Given the description of an element on the screen output the (x, y) to click on. 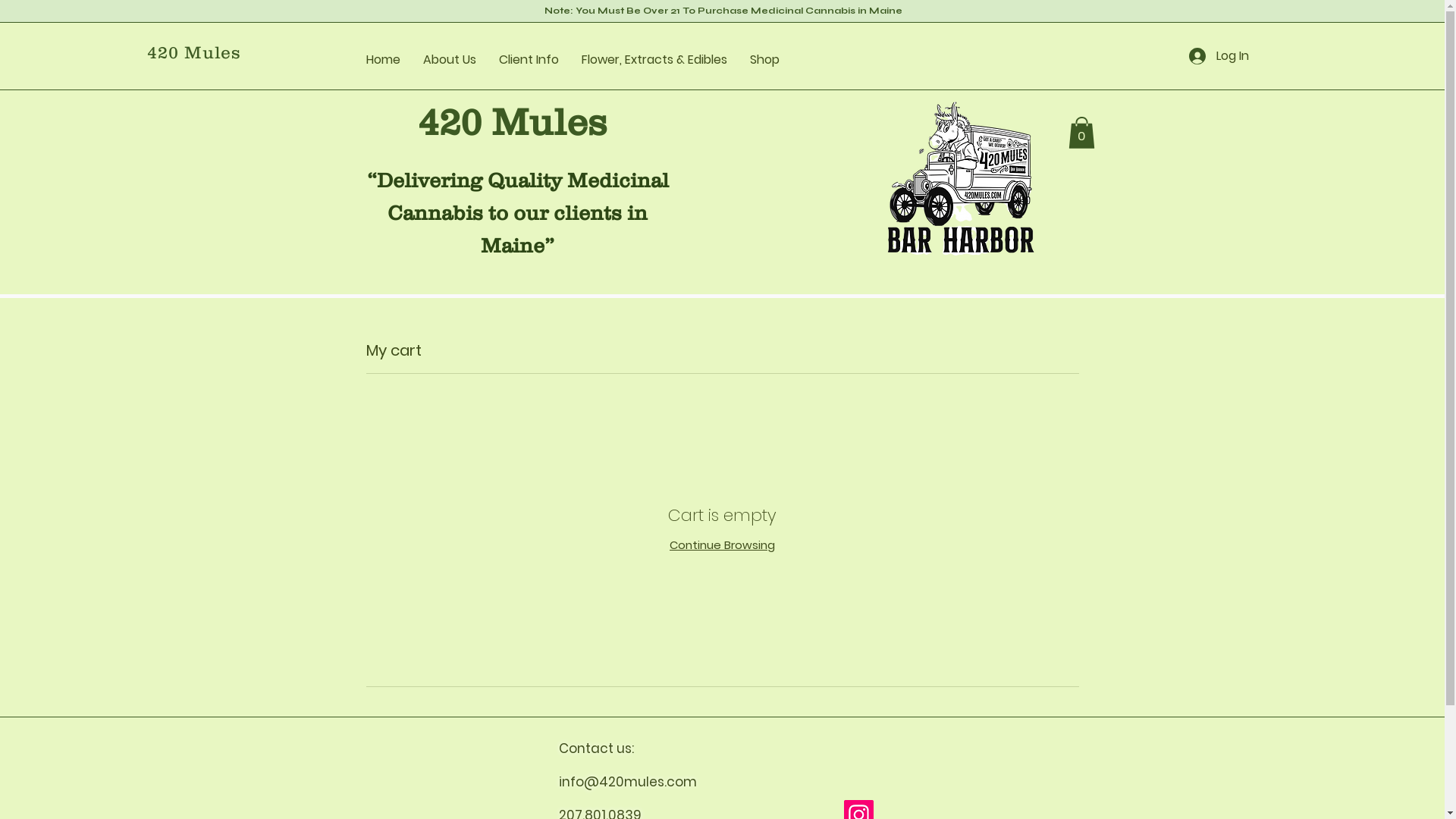
Shop Element type: text (764, 59)
Client Info Element type: text (528, 59)
420 Mules Element type: text (194, 52)
Home Element type: text (382, 59)
Flower, Extracts & Edibles Element type: text (654, 59)
info@420mules.com Element type: text (627, 781)
Log In Element type: text (1218, 55)
0 Element type: text (1080, 132)
About Us Element type: text (449, 59)
Continue Browsing Element type: text (722, 544)
